Given the description of an element on the screen output the (x, y) to click on. 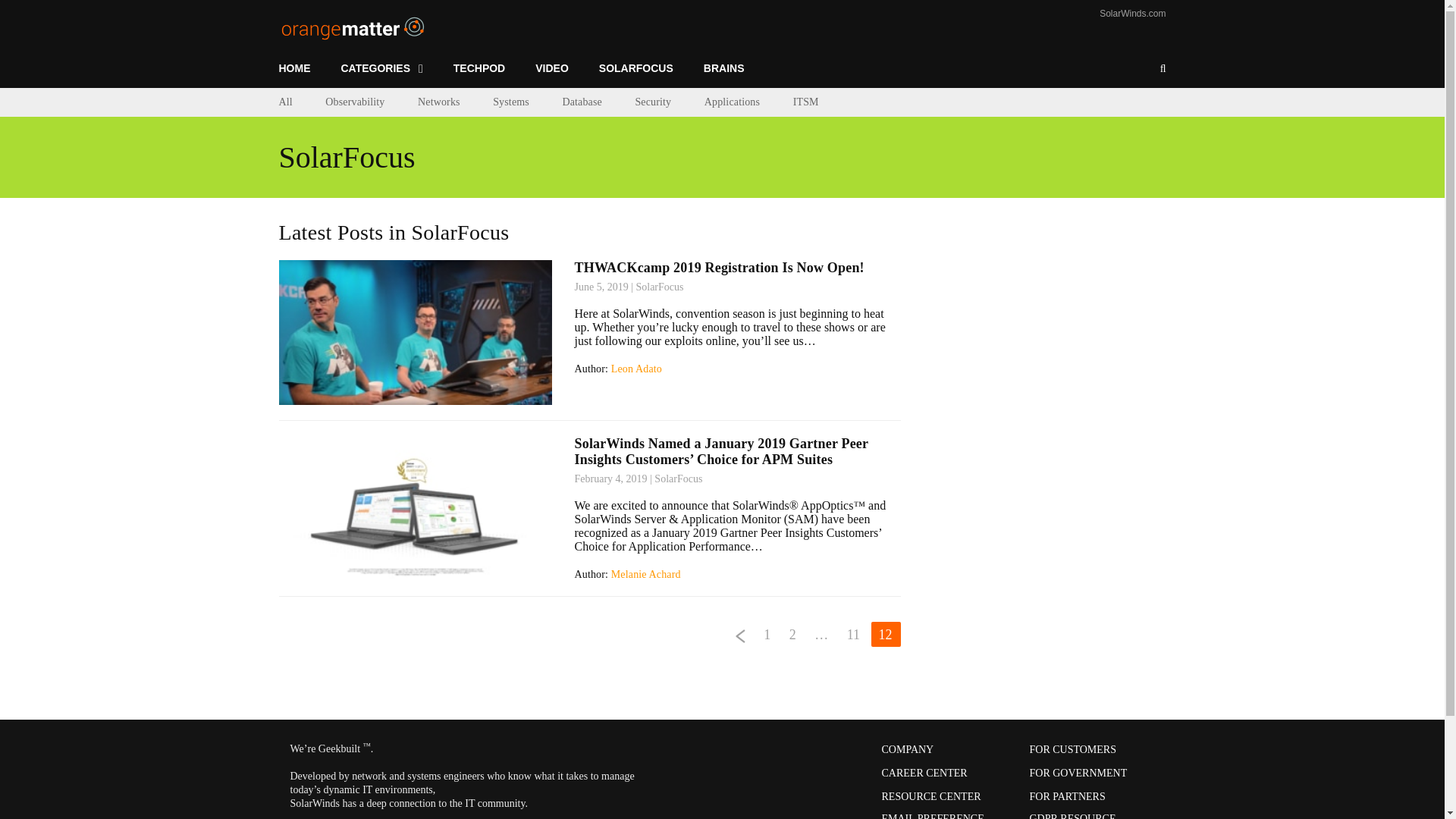
All (285, 101)
Networks (438, 101)
CATEGORIES (382, 68)
SOLARFOCUS (635, 68)
Systems (511, 101)
BRAINS (724, 68)
VIDEO (551, 68)
Observability (354, 101)
HOME (302, 68)
Applications (732, 101)
